Given the description of an element on the screen output the (x, y) to click on. 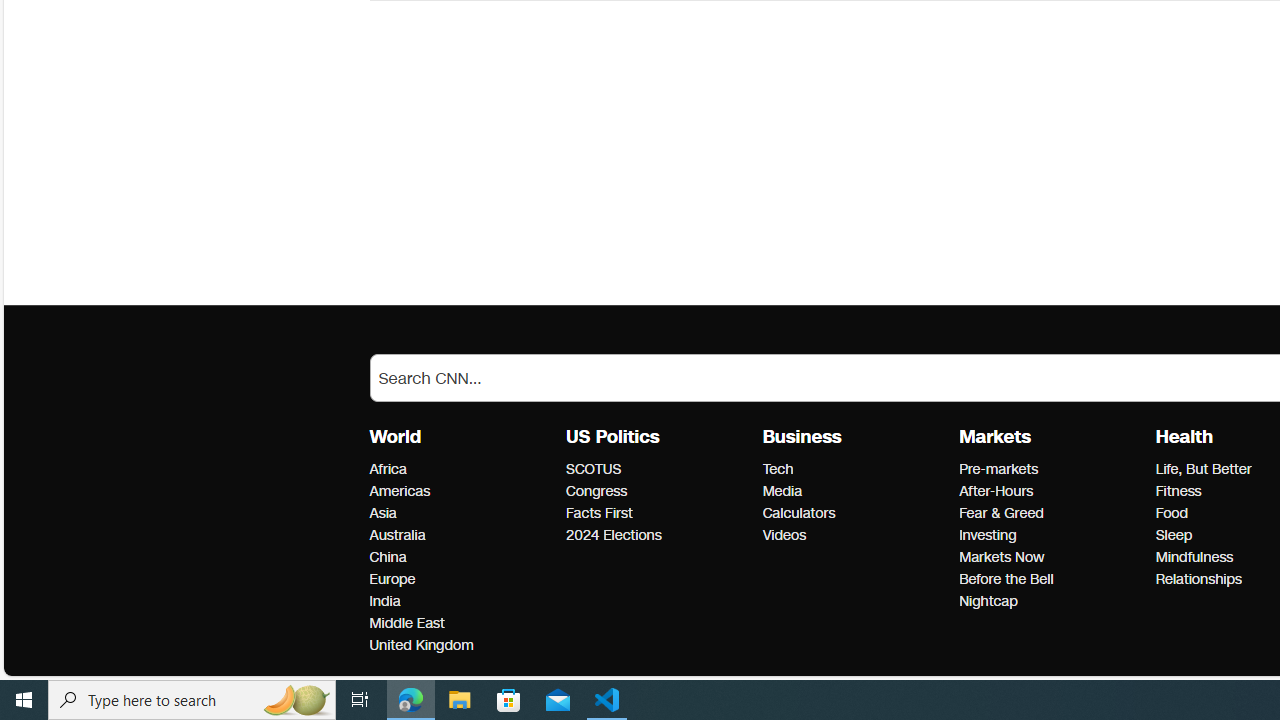
US Politics Facts First (599, 512)
Markets Nightcap (987, 601)
World United Kingdom (420, 645)
World China (387, 557)
World Australia (397, 535)
Middle East (461, 623)
Health Life, But Better (1202, 469)
World Africa (387, 469)
United Kingdom (461, 646)
Business (801, 437)
US Politics 2024 Elections (613, 535)
Markets Pre-markets (998, 469)
World Americas (399, 491)
Pre-markets (1051, 469)
